Given the description of an element on the screen output the (x, y) to click on. 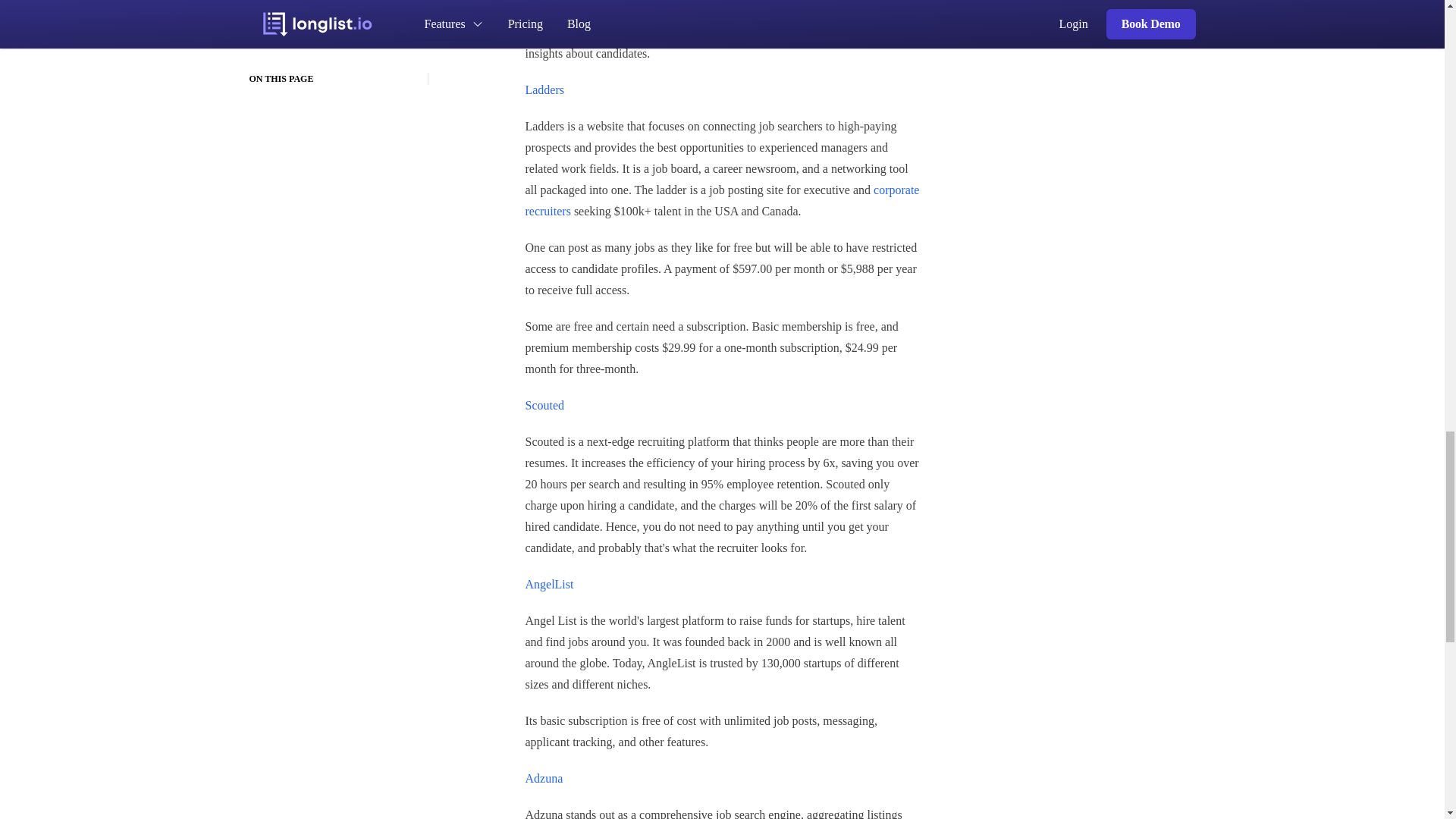
corporate recruiters (721, 200)
Ladders (544, 89)
AngelList (548, 584)
Scouted (544, 404)
Adzuna (543, 778)
